Given the description of an element on the screen output the (x, y) to click on. 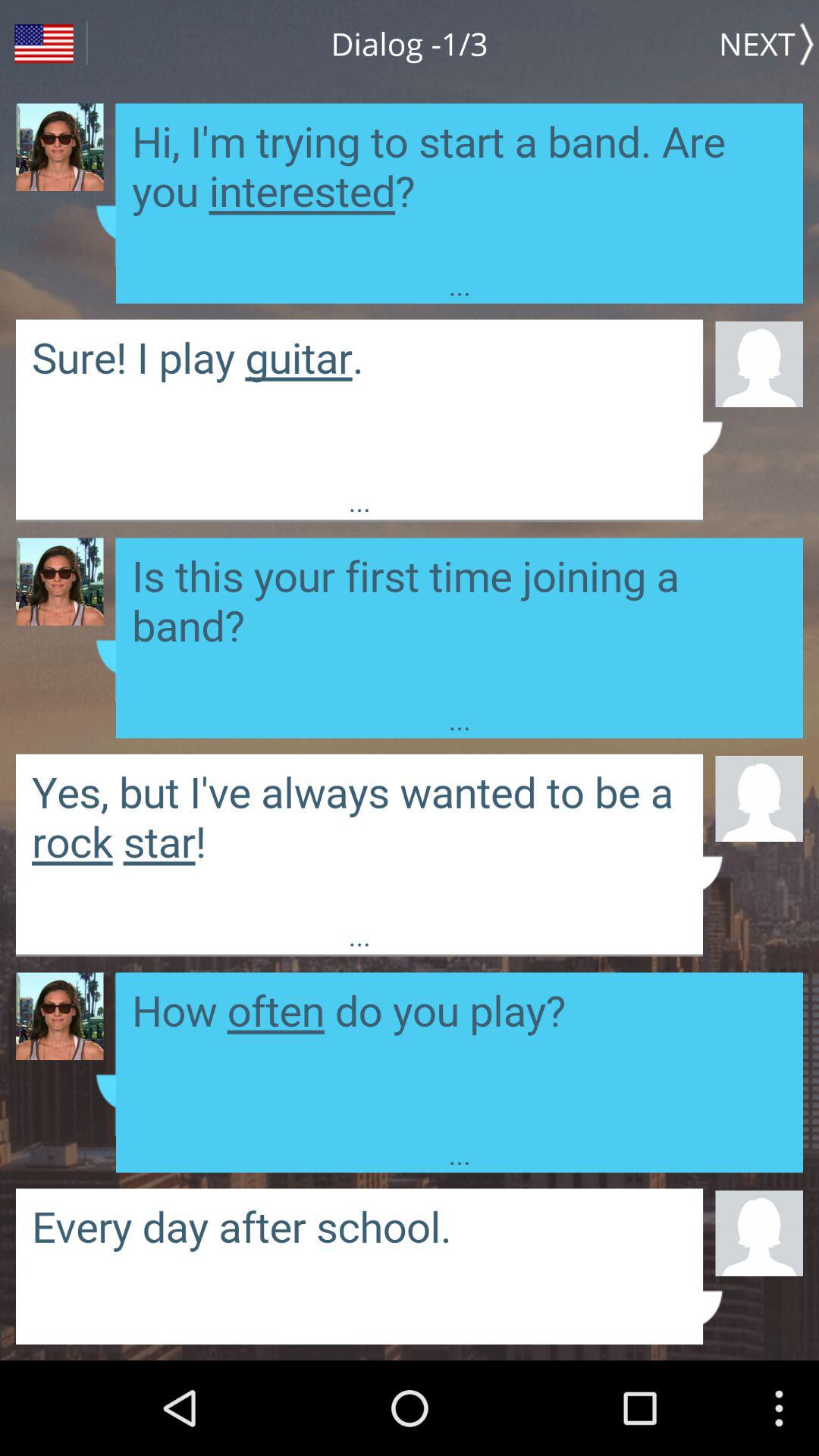
open item to the left of the dialog -1/3 icon (43, 43)
